Given the description of an element on the screen output the (x, y) to click on. 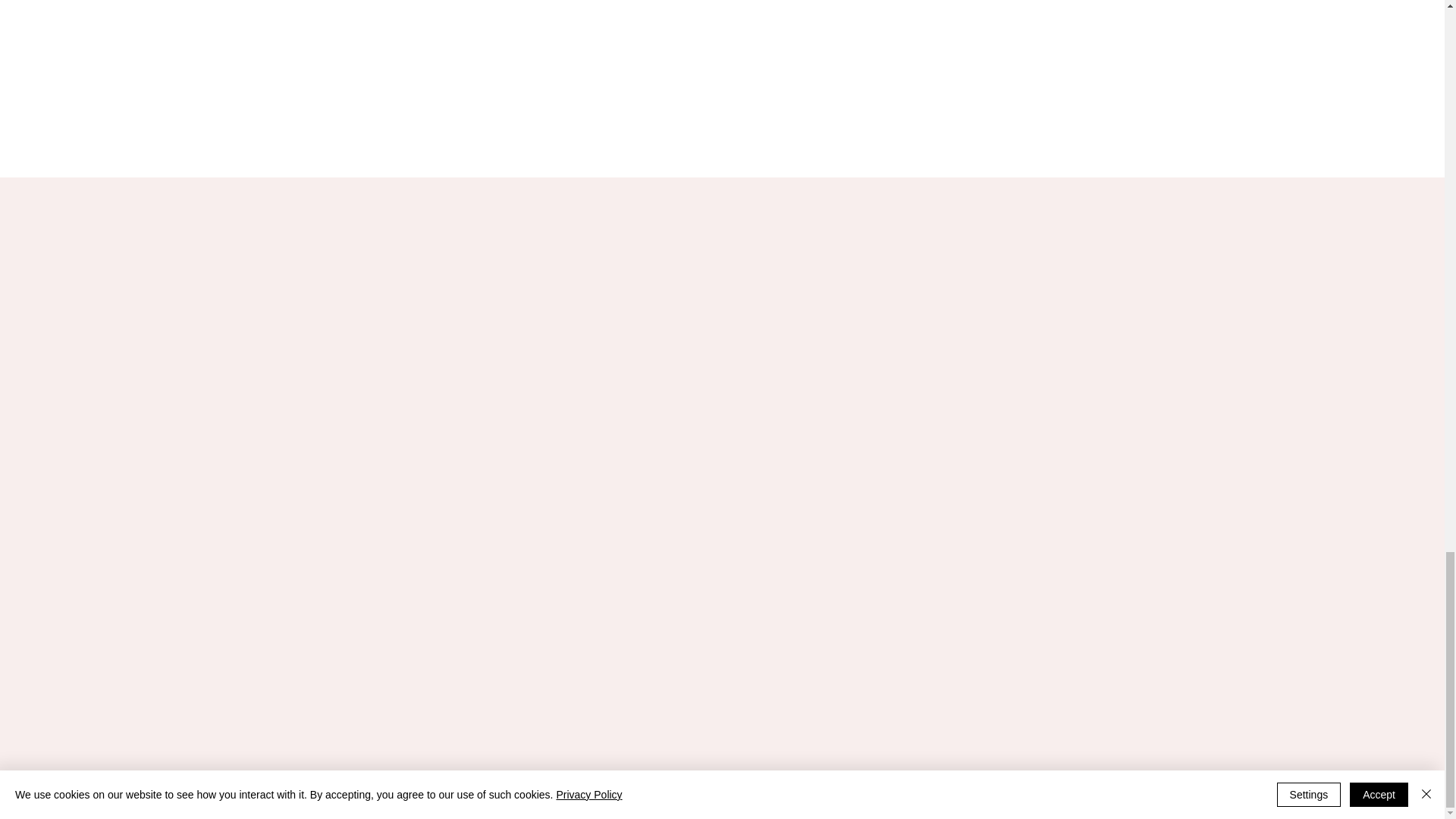
PRIVACY POLICY (780, 809)
